Given the description of an element on the screen output the (x, y) to click on. 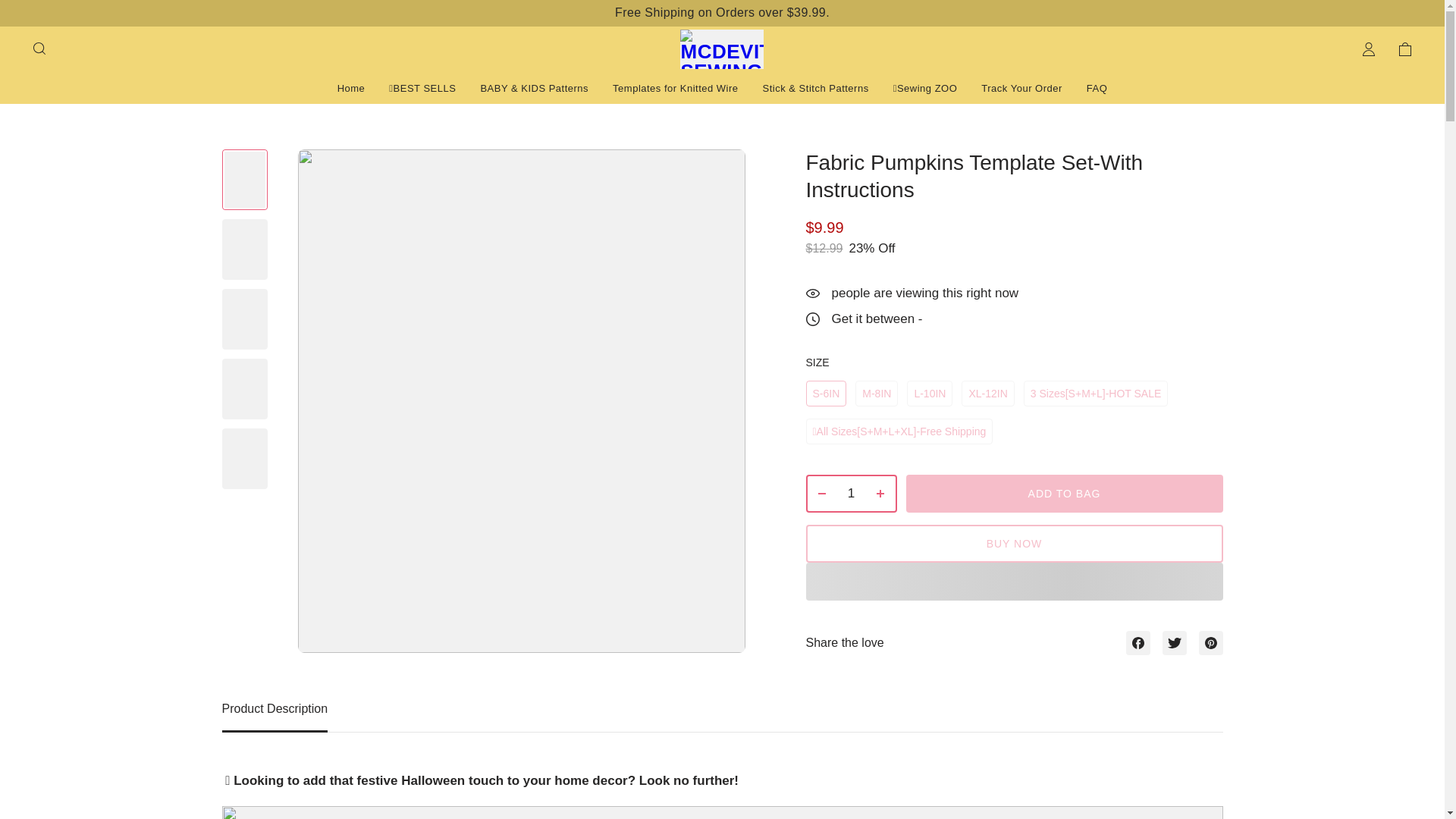
ADD TO BAG (1064, 493)
Templates for Knitted Wire (675, 87)
Home (351, 87)
Track Your Order (1021, 87)
BUY NOW (1014, 543)
FAQ (1097, 87)
Product Description (722, 716)
1 (850, 493)
